Given the description of an element on the screen output the (x, y) to click on. 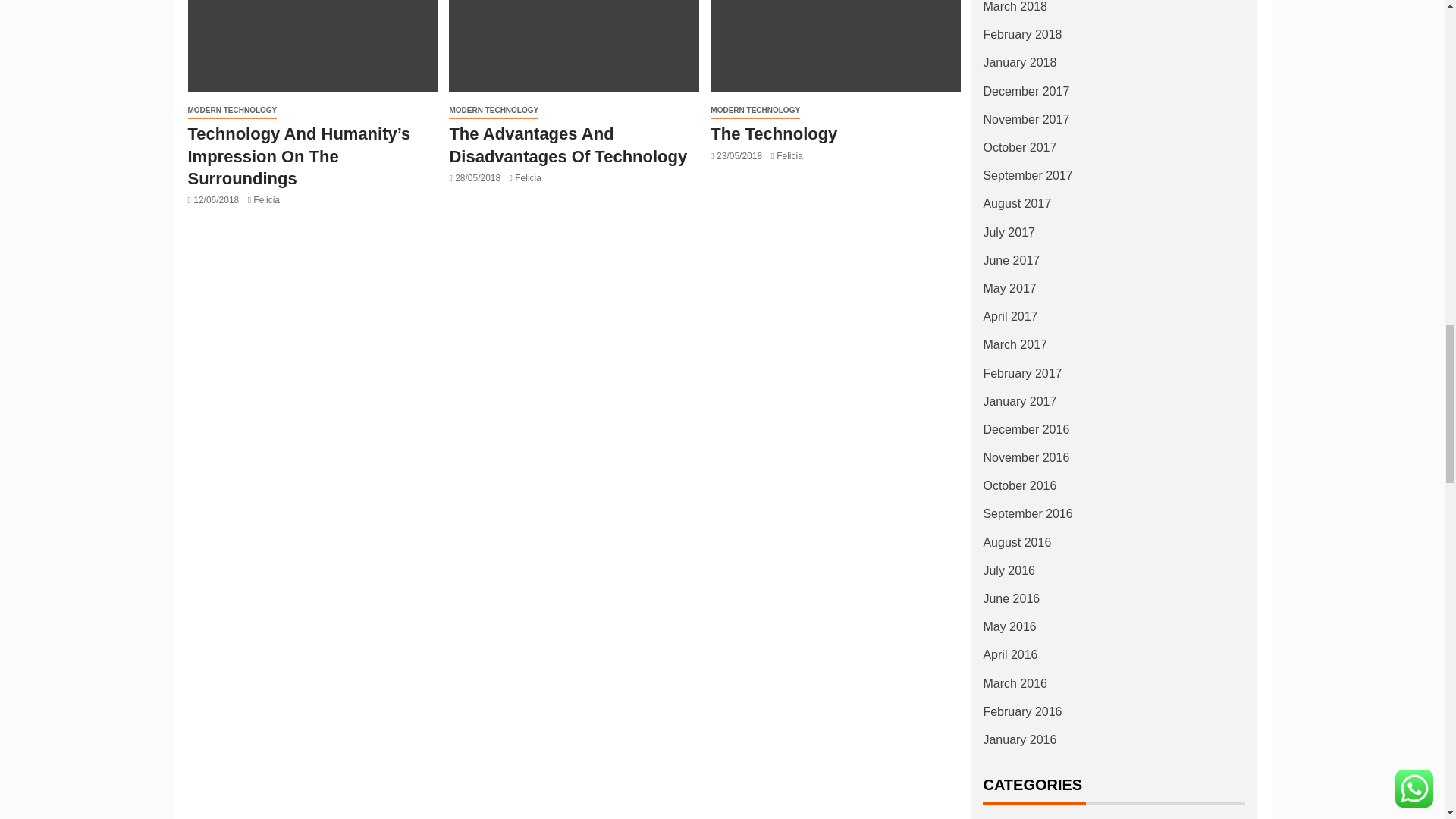
MODERN TECHNOLOGY (232, 110)
